Given the description of an element on the screen output the (x, y) to click on. 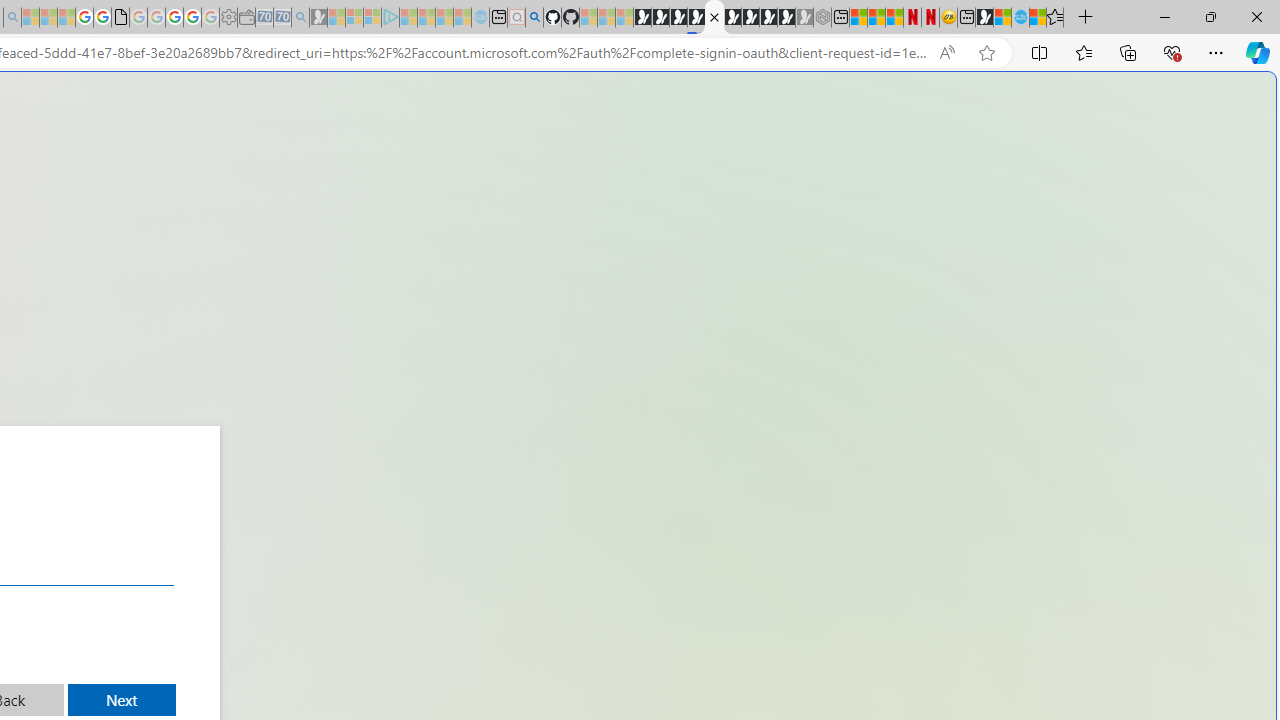
Next (121, 700)
